Given the description of an element on the screen output the (x, y) to click on. 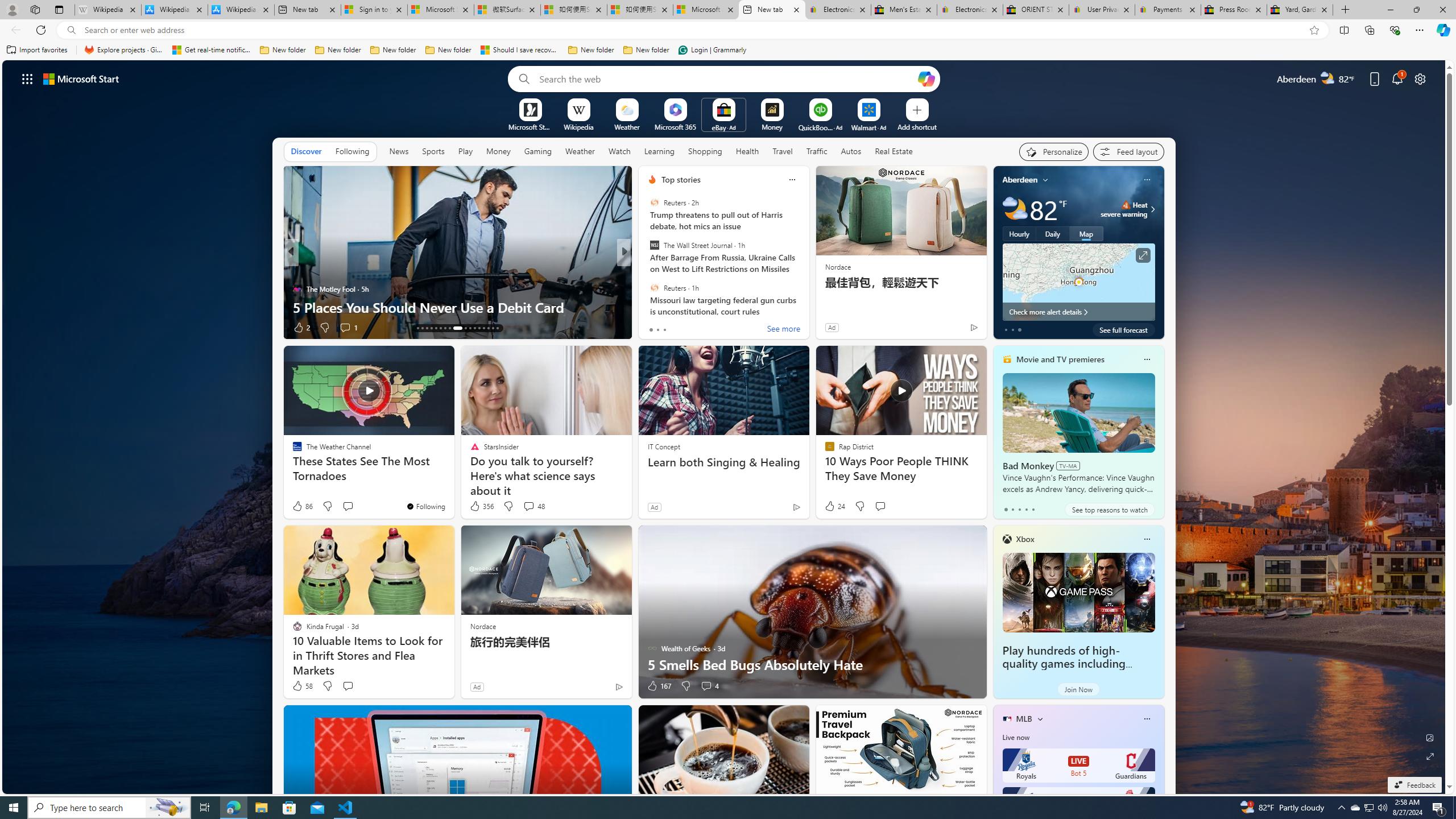
1 Like (651, 327)
Favorites bar (728, 49)
Yard, Garden & Outdoor Living (1300, 9)
View comments 48 Comment (533, 505)
Health (746, 151)
Wikipedia - Sleeping (107, 9)
AutomationID: tab-14 (422, 328)
Start the conversation (347, 685)
HowToGeek (647, 270)
Health (746, 151)
Heat - Severe Heat severe warning (1123, 208)
24 Like (834, 505)
Sports (432, 151)
